Given the description of an element on the screen output the (x, y) to click on. 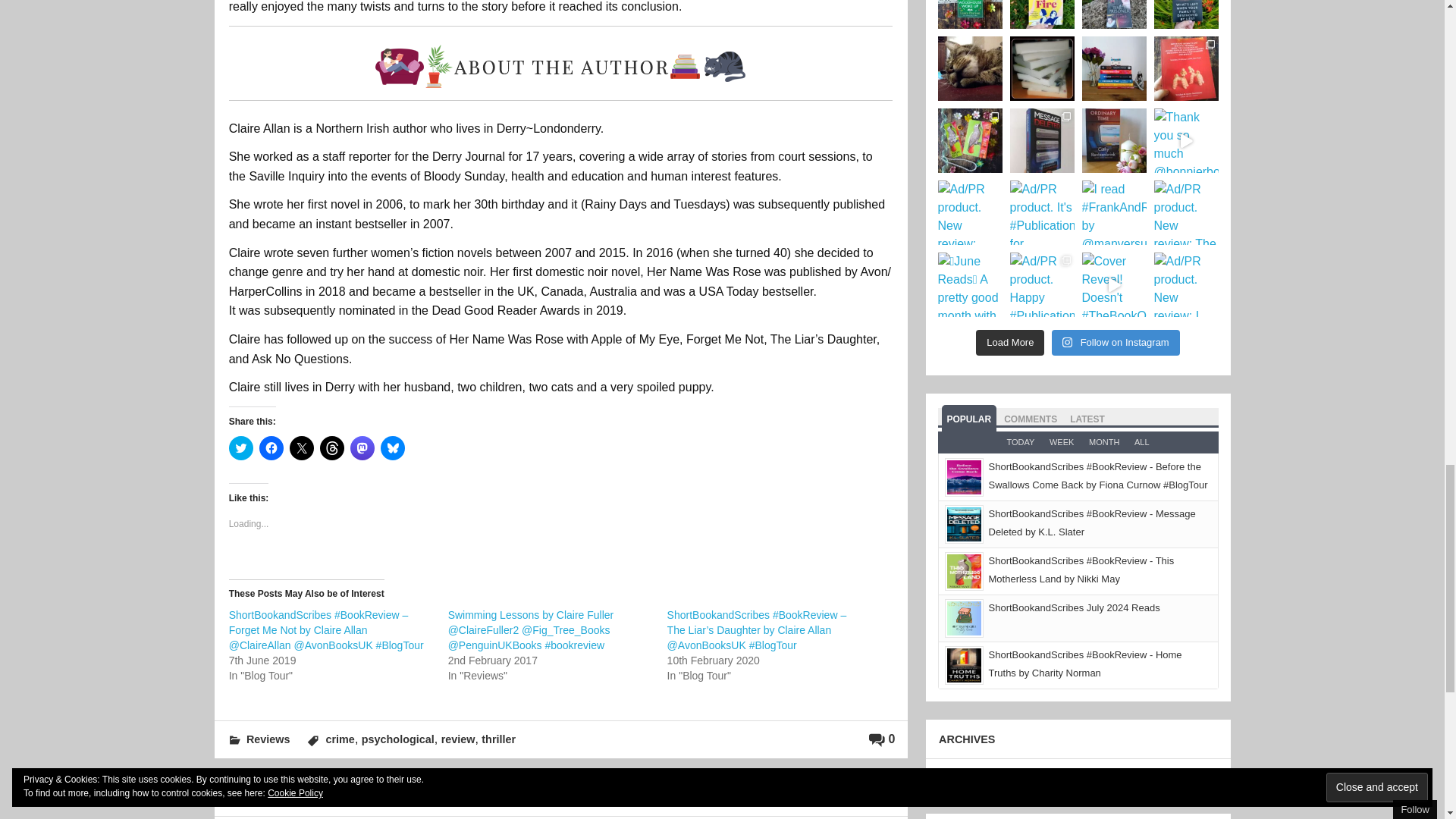
Click to share on Threads (331, 447)
Reviews (267, 739)
Click to share on X (301, 447)
Click to share on Bluesky (392, 447)
Click to share on Twitter (240, 447)
0 (882, 738)
Click to share on Mastodon (362, 447)
Click to share on Facebook (271, 447)
psychological (397, 739)
review (458, 739)
